Given the description of an element on the screen output the (x, y) to click on. 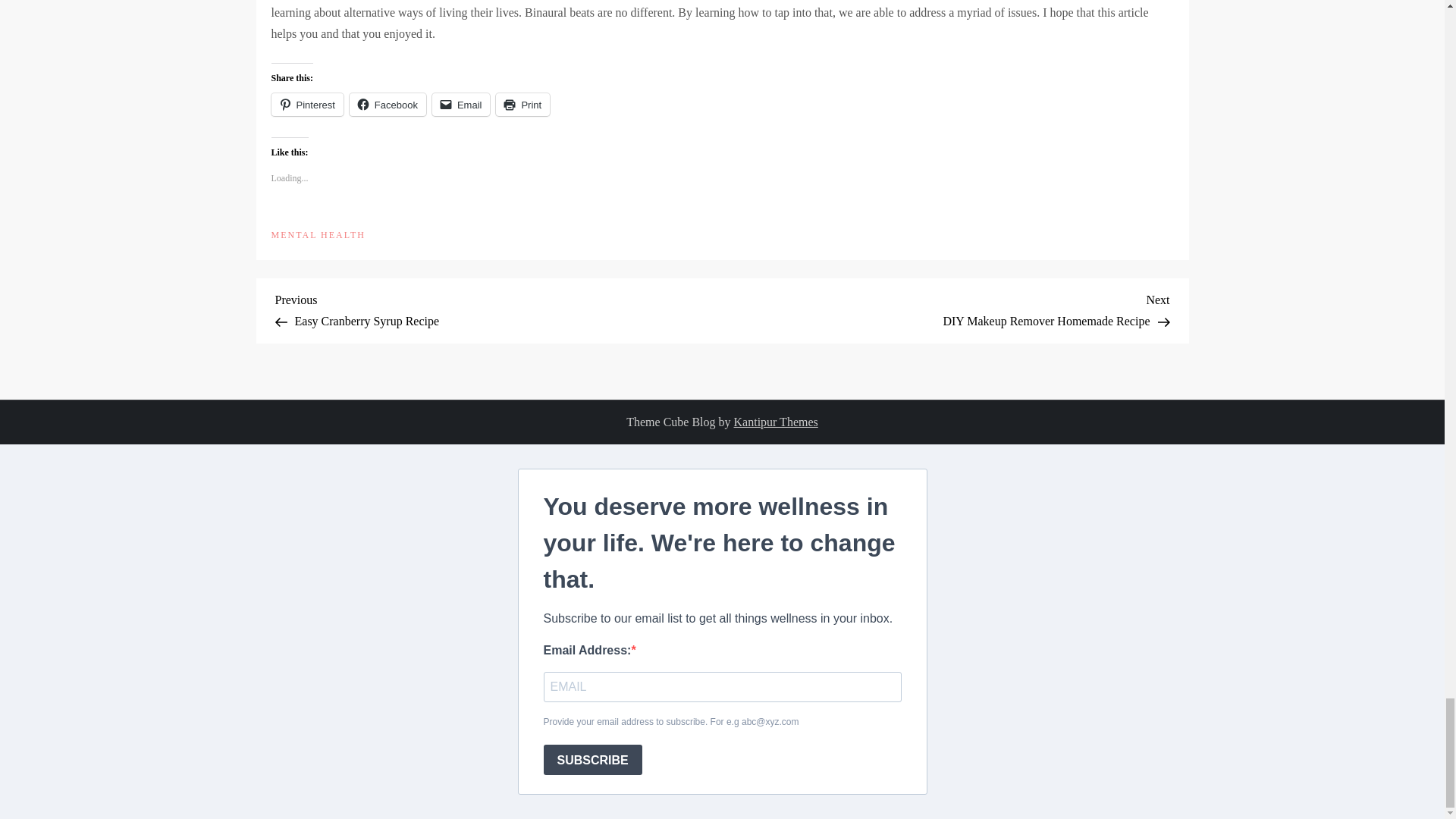
Print (523, 104)
Pinterest (306, 104)
Click to share on Pinterest (306, 104)
SUBSCRIBE (592, 759)
Click to email a link to a friend (461, 104)
MENTAL HEALTH (498, 308)
Click to share on Facebook (317, 235)
Facebook (387, 104)
